Given the description of an element on the screen output the (x, y) to click on. 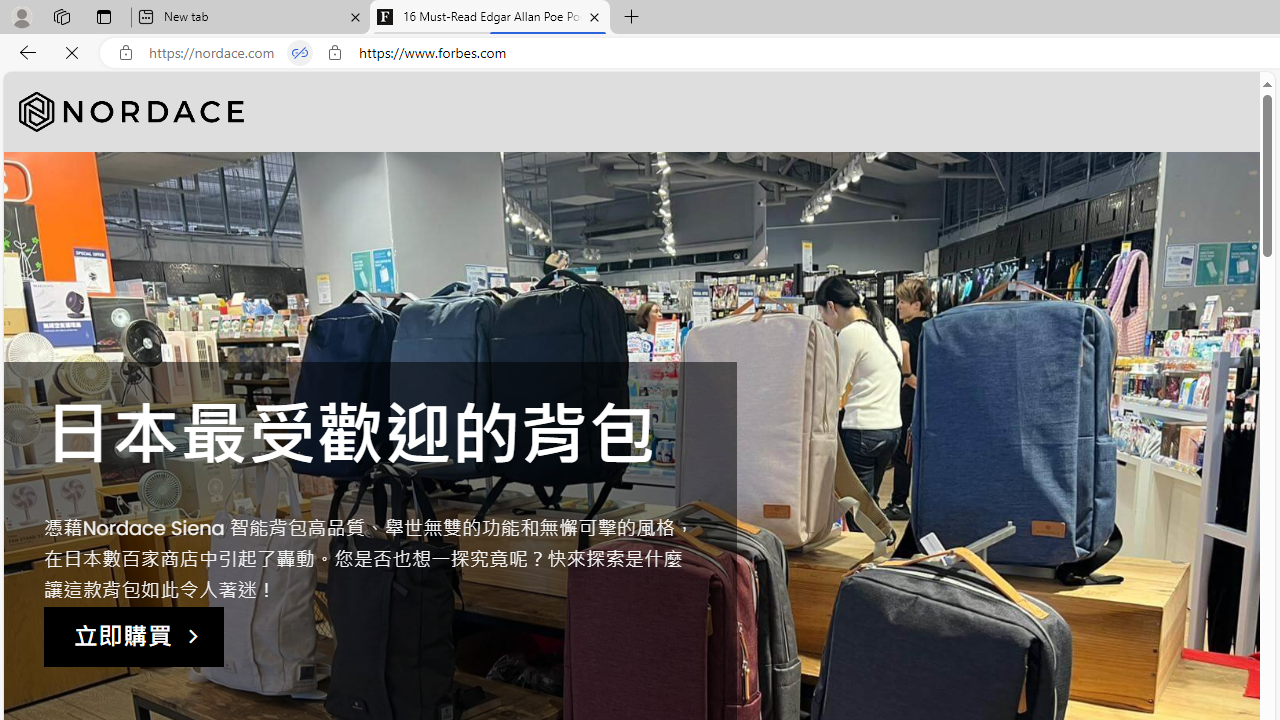
Tabs in split screen (299, 53)
16 Must-Read Edgar Allan Poe Poems And Short Stories (490, 17)
